Given the description of an element on the screen output the (x, y) to click on. 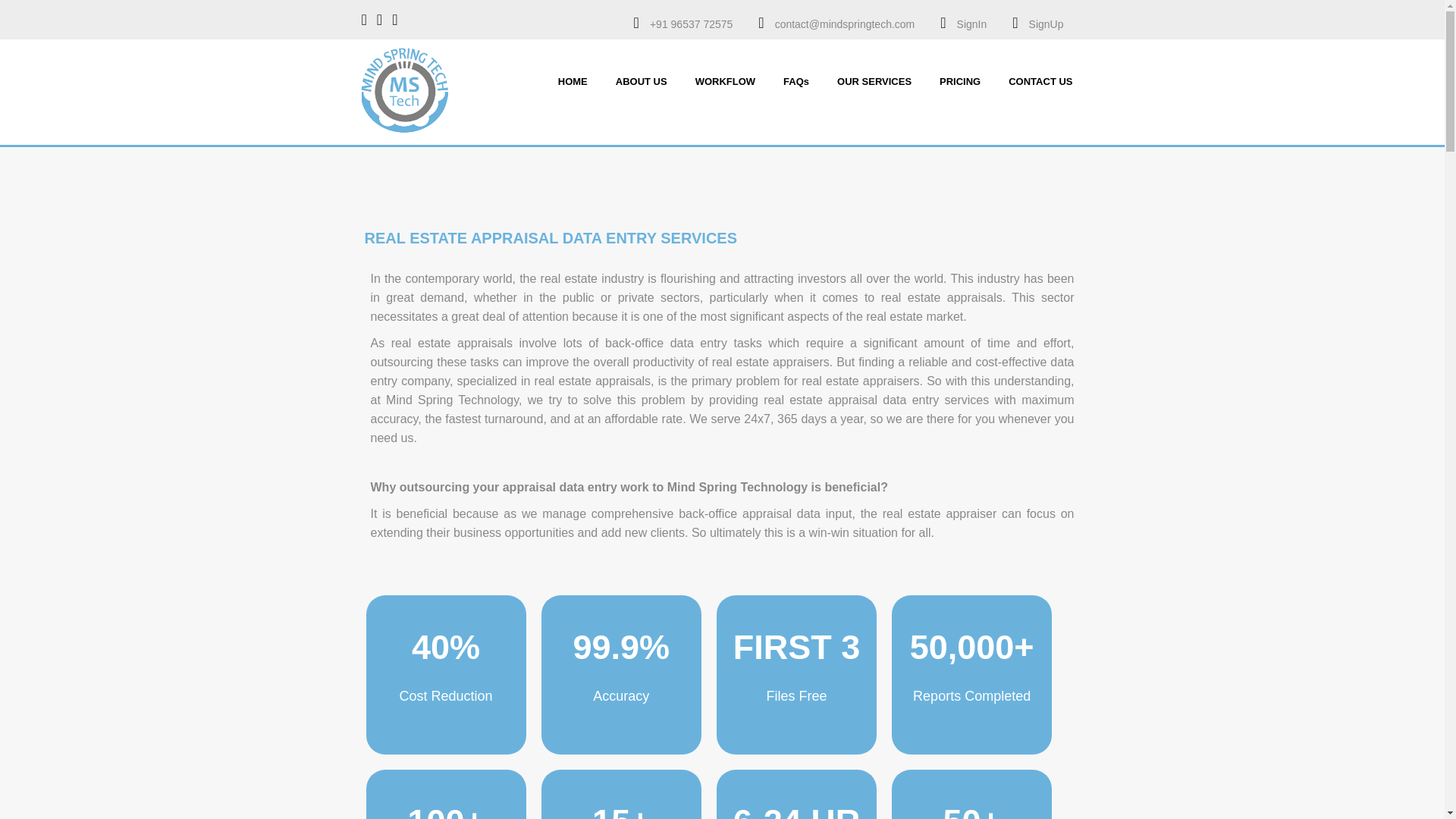
CONTACT US (1040, 78)
OUR SERVICES (874, 78)
ABOUT US (641, 78)
SignIn (971, 24)
SignUp (1046, 24)
WORKFLOW (724, 78)
